Given the description of an element on the screen output the (x, y) to click on. 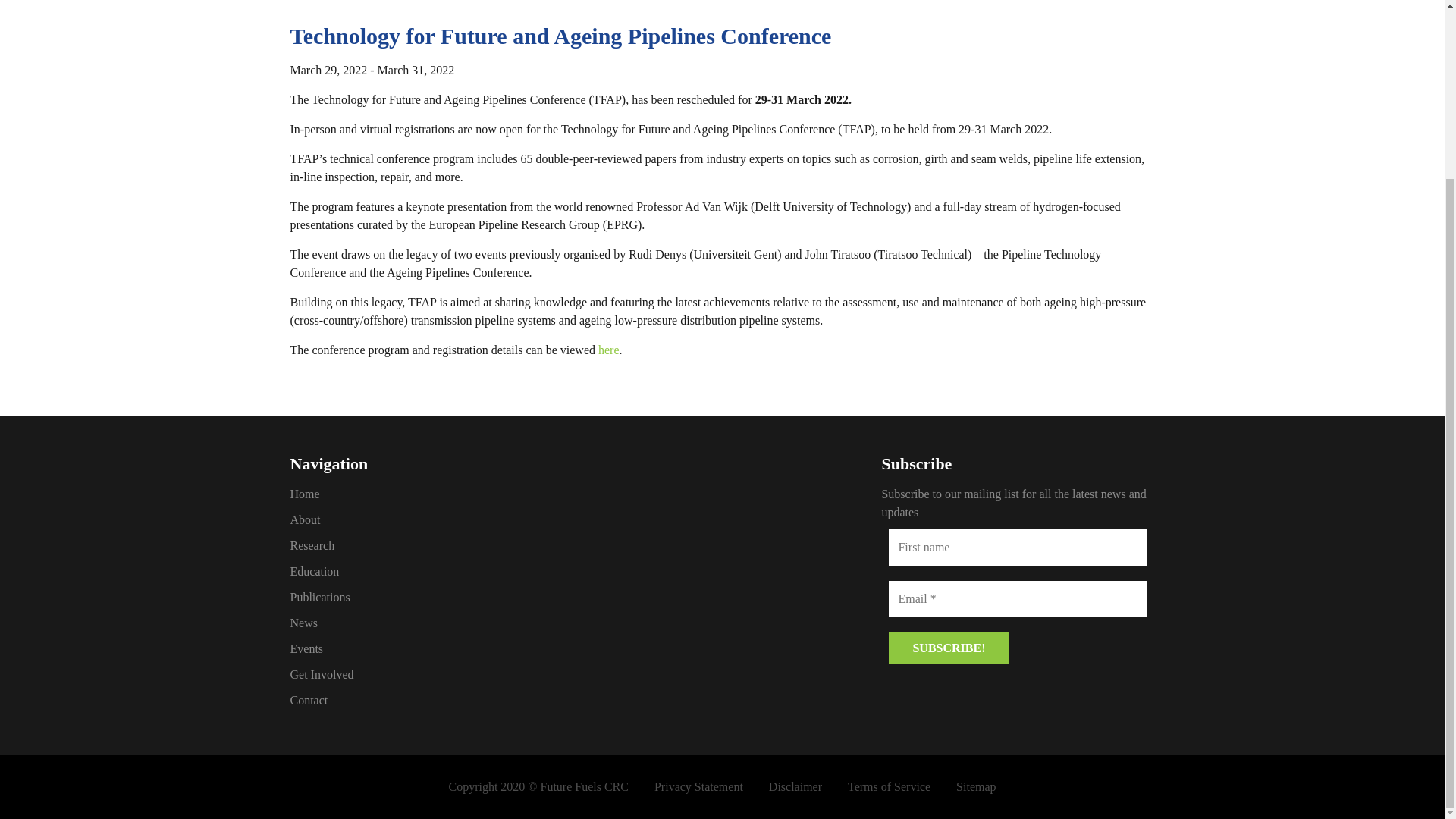
Research (425, 546)
Sitemap (975, 787)
Education (425, 571)
About (425, 520)
Subscribe! (948, 648)
Publications (425, 597)
First name (1017, 547)
Disclaimer (795, 787)
News (425, 623)
Events (425, 648)
Terms of Service (888, 787)
here (609, 349)
Get Involved (425, 674)
Home (425, 494)
Subscribe! (948, 648)
